Given the description of an element on the screen output the (x, y) to click on. 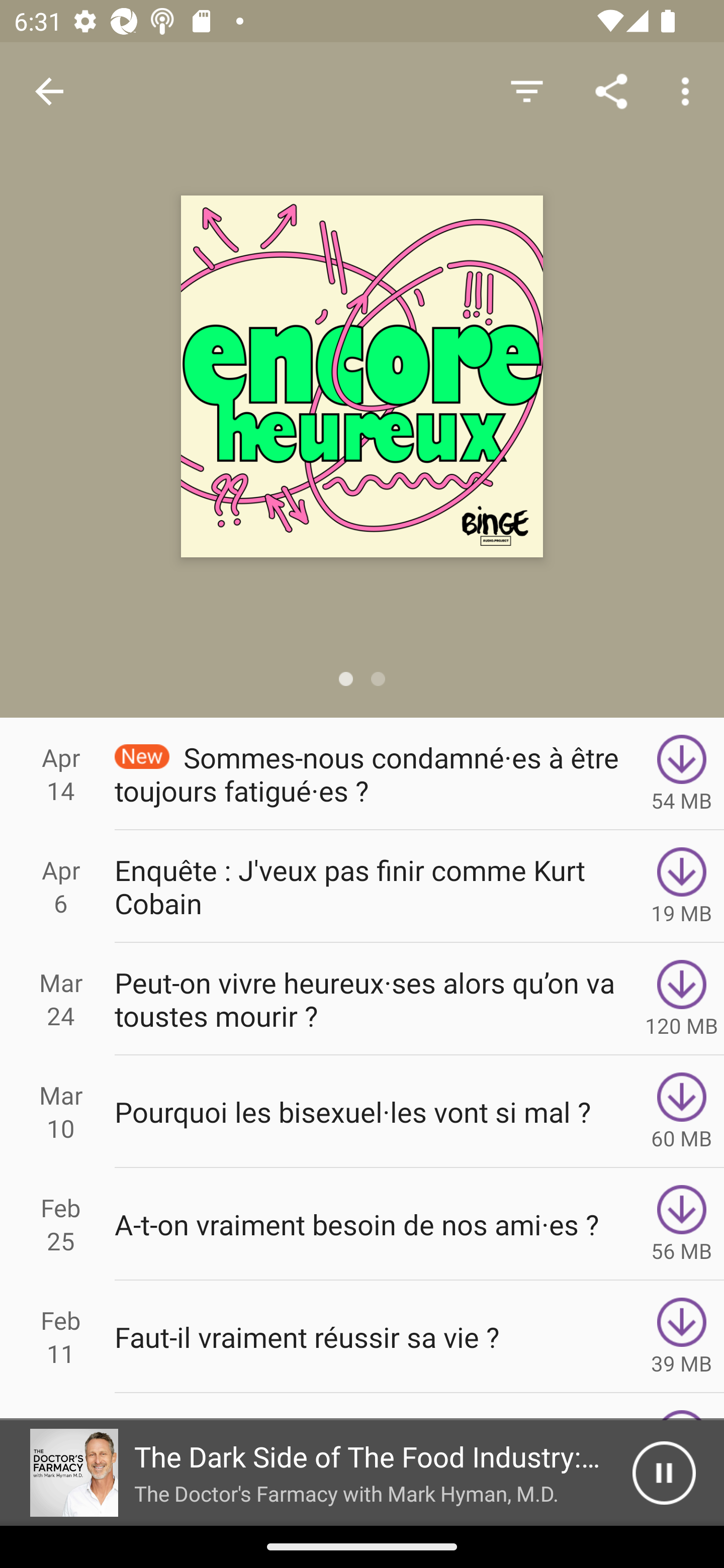
Navigate up (49, 91)
Hide Episodes (526, 90)
Share Link (611, 90)
More options (688, 90)
Download 54 MB (681, 773)
Download 19 MB (681, 885)
Download 120 MB (681, 998)
Download 60 MB (681, 1111)
Download 56 MB (681, 1224)
Download 39 MB (681, 1336)
Pause (663, 1472)
